Given the description of an element on the screen output the (x, y) to click on. 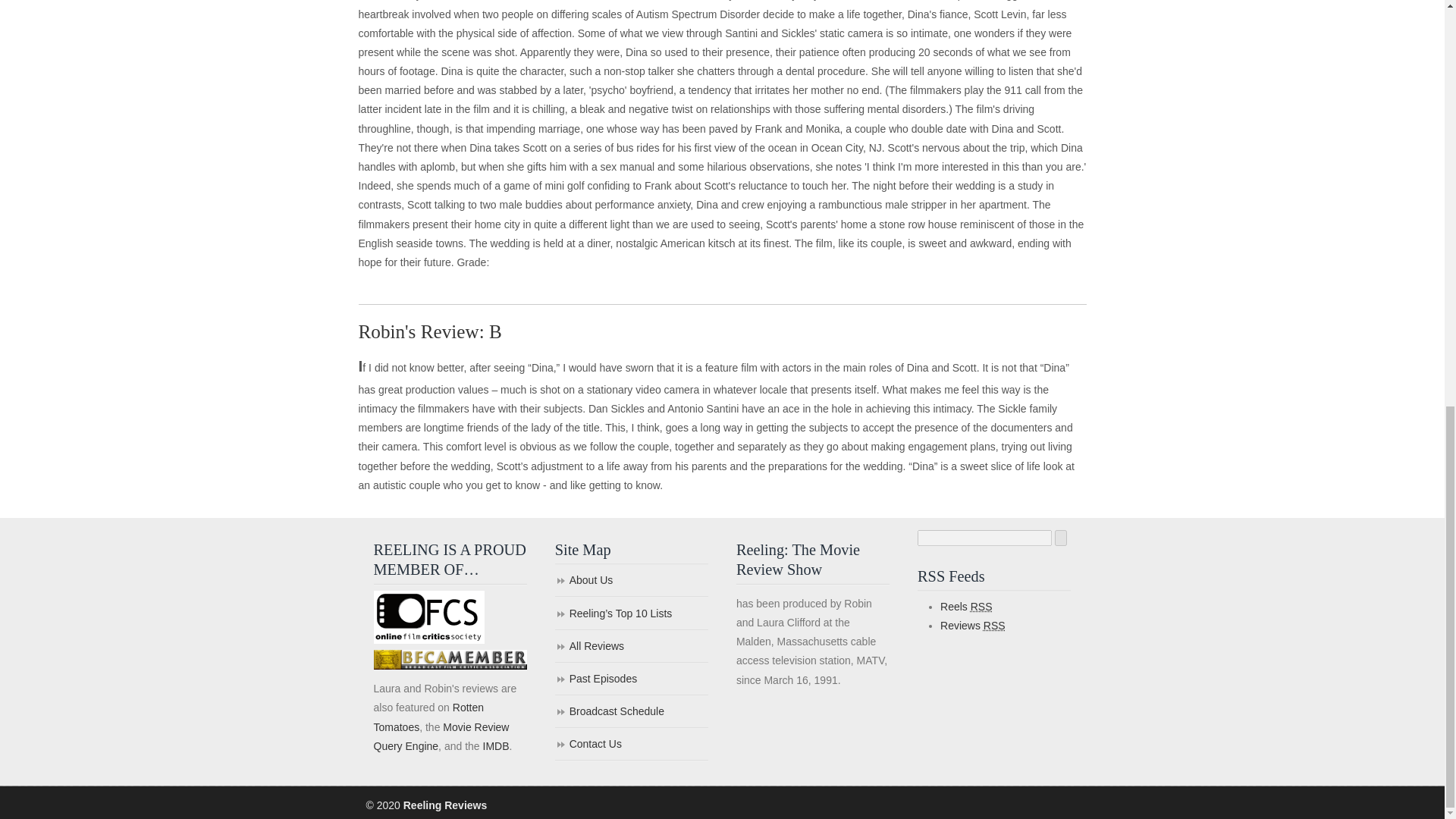
Broadcast Schedule (630, 712)
Reels RSS (965, 606)
Contact Us (630, 744)
Really Simple Syndication (995, 625)
About Us (630, 581)
Past Episodes (630, 679)
All Reviews (630, 646)
Reviews RSS (973, 625)
IMDB (494, 746)
Rotten Tomatoes (427, 716)
Movie Review Query Engine (440, 736)
Really Simple Syndication (981, 606)
The latest Reviews in RSS (973, 625)
The latest Episodes in RSS (965, 606)
